Given the description of an element on the screen output the (x, y) to click on. 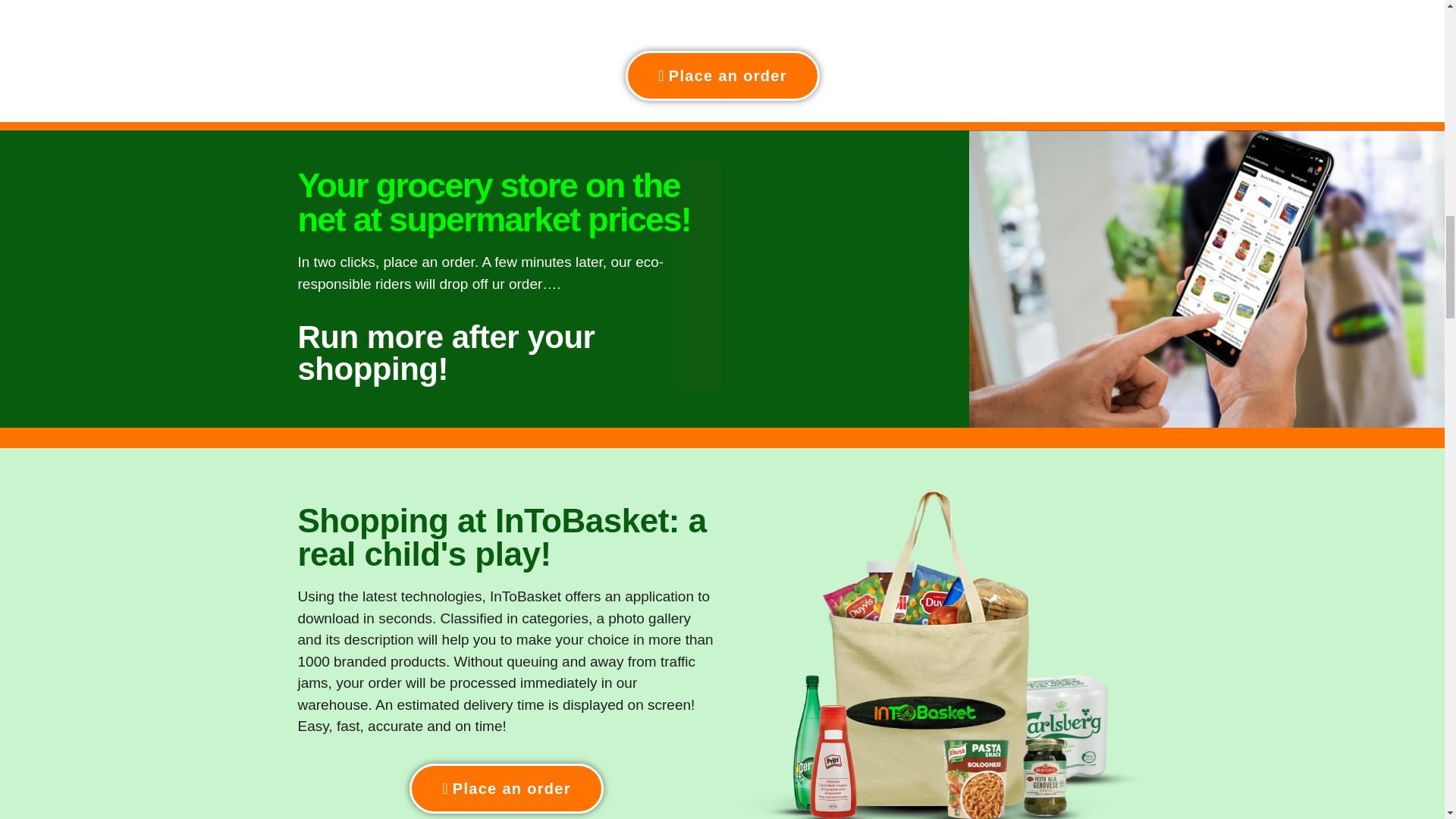
Place an order (506, 788)
Place an order (722, 75)
